Given the description of an element on the screen output the (x, y) to click on. 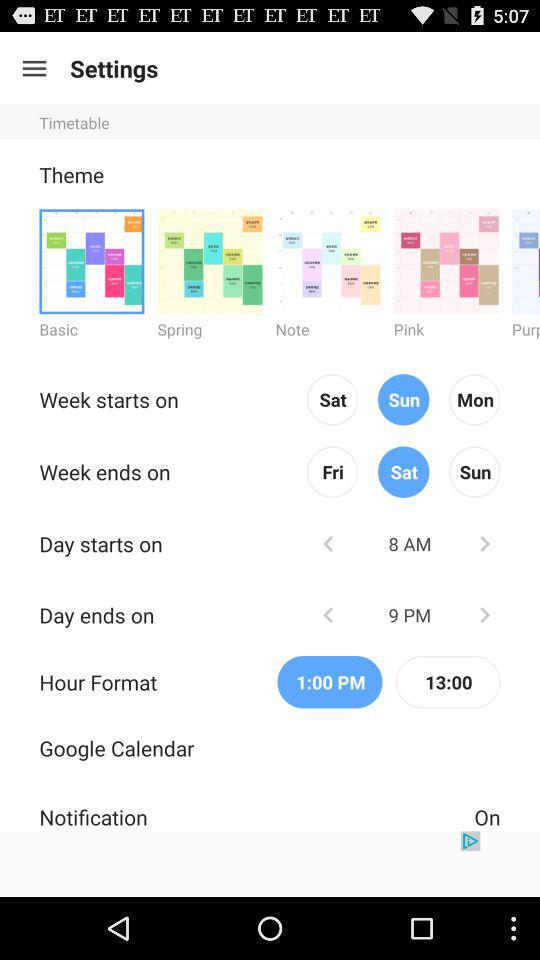
basic theme (91, 260)
